Given the description of an element on the screen output the (x, y) to click on. 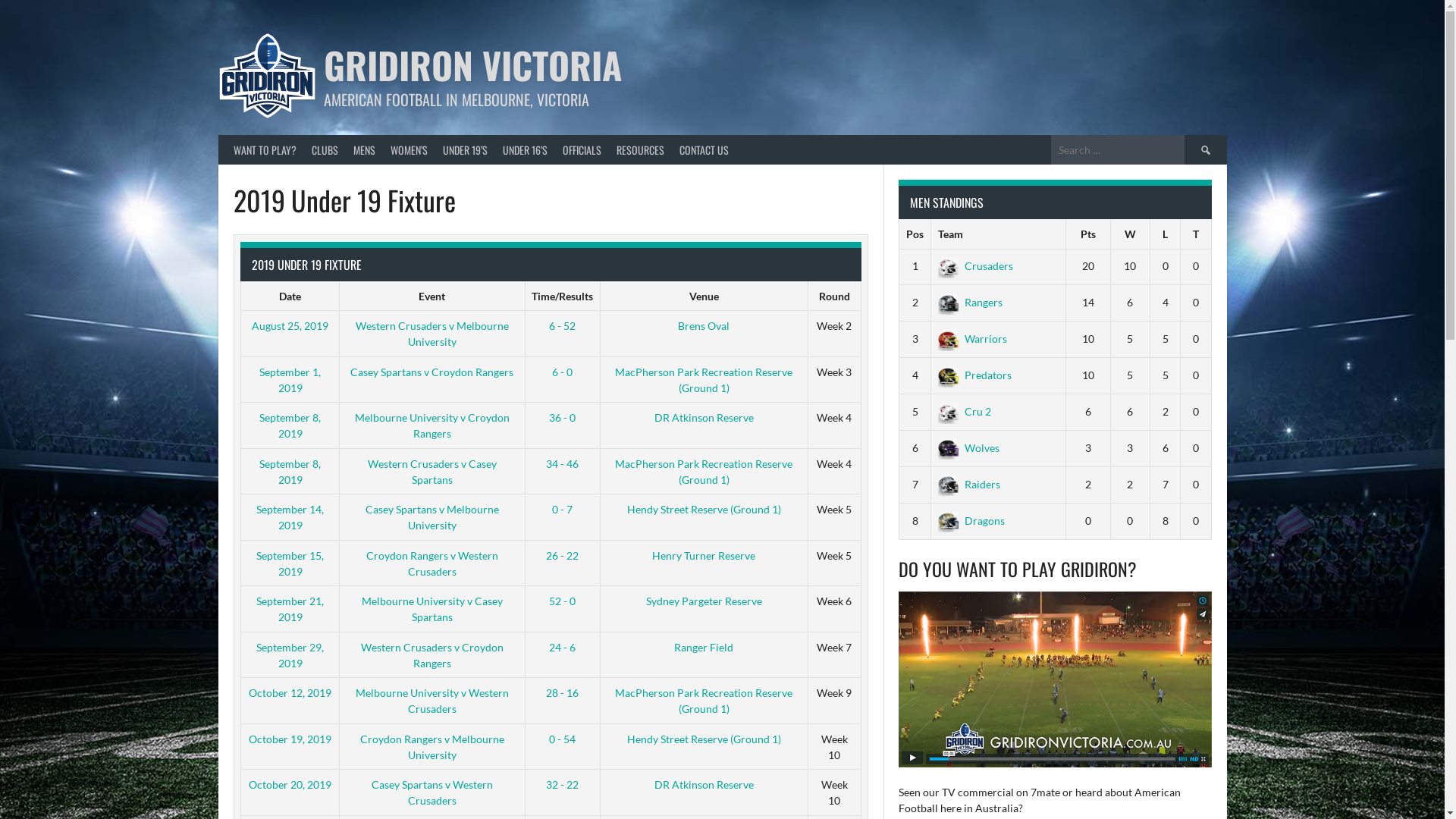
Dragons Element type: text (971, 520)
Ranger Field Element type: text (703, 646)
October 19, 2019 Element type: text (289, 738)
October 12, 2019 Element type: text (289, 692)
28 - 16 Element type: text (562, 692)
34 - 46 Element type: text (562, 462)
OFFICIALS Element type: text (581, 149)
Croydon Rangers v Melbourne University Element type: text (432, 746)
Brens Oval Element type: text (703, 325)
0 - 54 Element type: text (562, 738)
CONTACT US Element type: text (703, 149)
Western Crusaders v Casey Spartans Element type: text (431, 470)
Croydon Rangers v Western Crusaders Element type: text (432, 563)
MacPherson Park Recreation Reserve (Ground 1) Element type: text (703, 700)
Hendy Street Reserve (Ground 1) Element type: text (704, 508)
Casey Spartans v Western Crusaders Element type: text (431, 792)
Sydney Pargeter Reserve Element type: text (704, 600)
Hendy Street Reserve (Ground 1) Element type: text (704, 738)
Predators Element type: text (974, 374)
Casey Spartans v Croydon Rangers Element type: text (431, 371)
6 - 0 Element type: text (562, 371)
September 1, 2019 Element type: text (289, 379)
Search Element type: hover (1205, 149)
24 - 6 Element type: text (562, 646)
DR Atkinson Reserve Element type: text (703, 417)
September 8, 2019 Element type: text (289, 425)
Casey Spartans v Melbourne University Element type: text (431, 516)
October 20, 2019 Element type: text (289, 784)
MENS Element type: text (363, 149)
DR Atkinson Reserve Element type: text (703, 784)
36 - 0 Element type: text (562, 417)
Crusaders Element type: text (975, 265)
Rangers Element type: text (970, 301)
Wolves Element type: text (968, 447)
September 8, 2019 Element type: text (289, 470)
6 - 52 Element type: text (562, 325)
Melbourne University v Croydon Rangers Element type: text (431, 425)
Henry Turner Reserve Element type: text (703, 555)
GRIDIRON VICTORIA Element type: text (472, 64)
Melbourne University v Western Crusaders Element type: text (431, 700)
Western Crusaders v Croydon Rangers Element type: text (431, 654)
Melbourne University v Casey Spartans Element type: text (431, 608)
Raiders Element type: text (969, 483)
Cru 2 Element type: text (964, 410)
RESOURCES Element type: text (639, 149)
52 - 0 Element type: text (562, 600)
August 25, 2019 Element type: text (289, 325)
MacPherson Park Recreation Reserve (Ground 1) Element type: text (703, 470)
Warriors Element type: text (972, 338)
26 - 22 Element type: text (562, 555)
32 - 22 Element type: text (562, 784)
MacPherson Park Recreation Reserve (Ground 1) Element type: text (703, 379)
September 15, 2019 Element type: text (289, 563)
September 29, 2019 Element type: text (289, 654)
CLUBS Element type: text (324, 149)
WANT TO PLAY? Element type: text (264, 149)
0 - 7 Element type: text (562, 508)
September 21, 2019 Element type: text (289, 608)
September 14, 2019 Element type: text (289, 516)
Western Crusaders v Melbourne University Element type: text (431, 333)
